Given the description of an element on the screen output the (x, y) to click on. 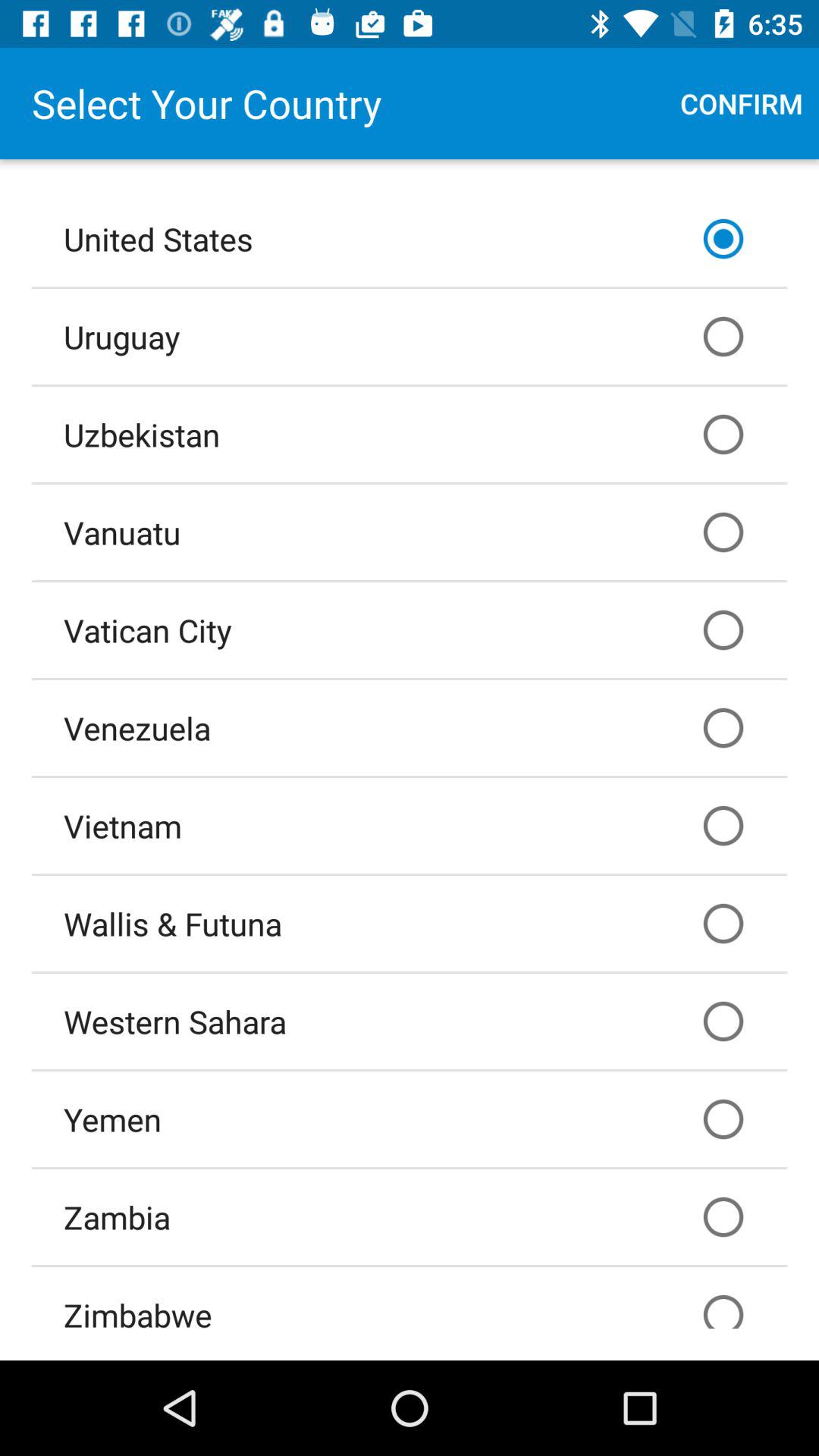
turn off the item above the wallis & futuna icon (409, 825)
